Given the description of an element on the screen output the (x, y) to click on. 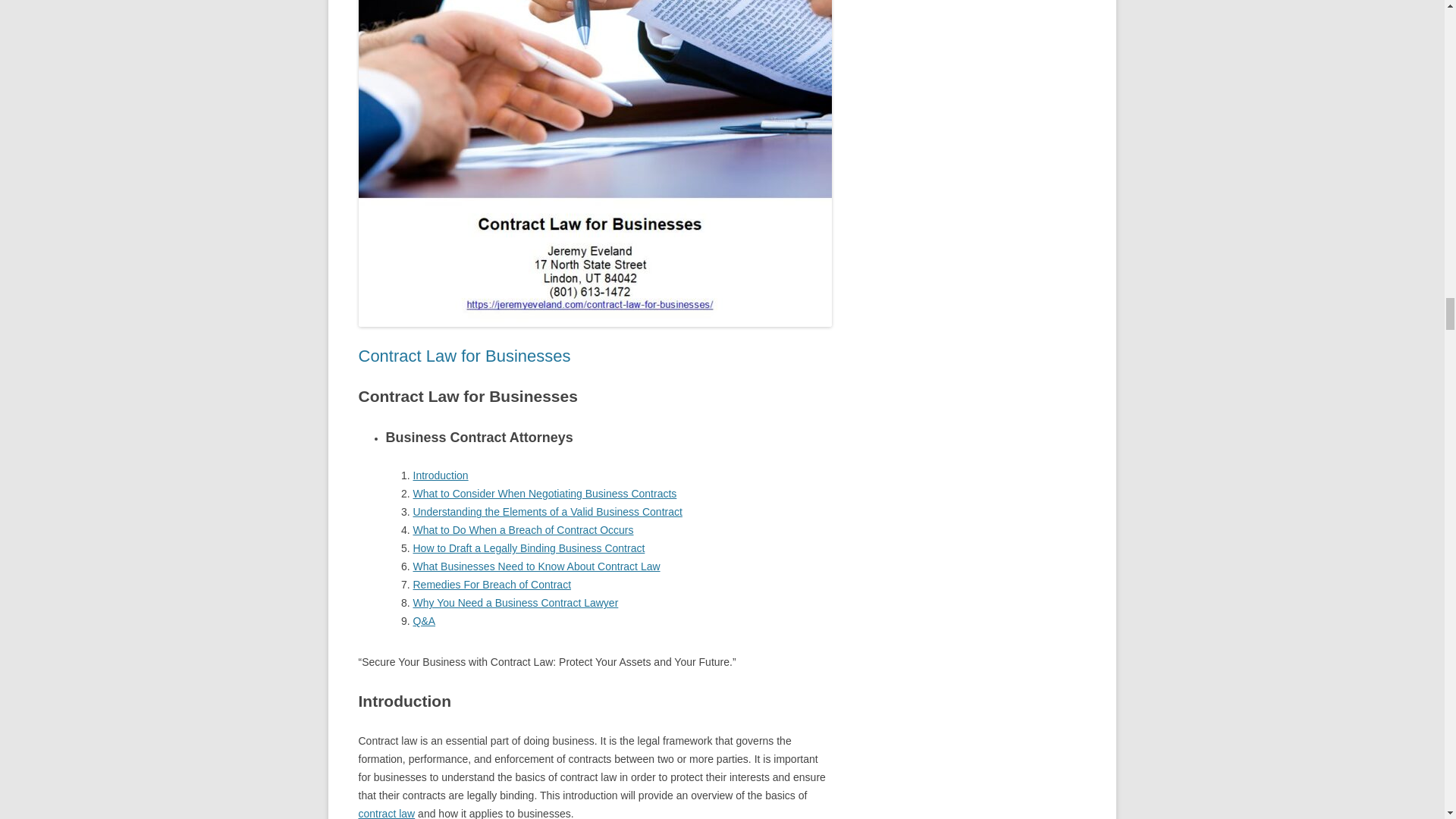
contract law (386, 813)
Understanding the Elements of a Valid Business Contract (546, 511)
Contract Law for Businesses (464, 355)
How to Draft a Legally Binding Business Contract (528, 548)
What to Consider When Negotiating Business Contracts (544, 493)
What Businesses Need to Know About Contract Law (535, 566)
Introduction (439, 475)
Why You Need a Business Contract Lawyer (514, 603)
What to Do When a Breach of Contract Occurs (522, 530)
Remedies For Breach of Contract (491, 584)
